Given the description of an element on the screen output the (x, y) to click on. 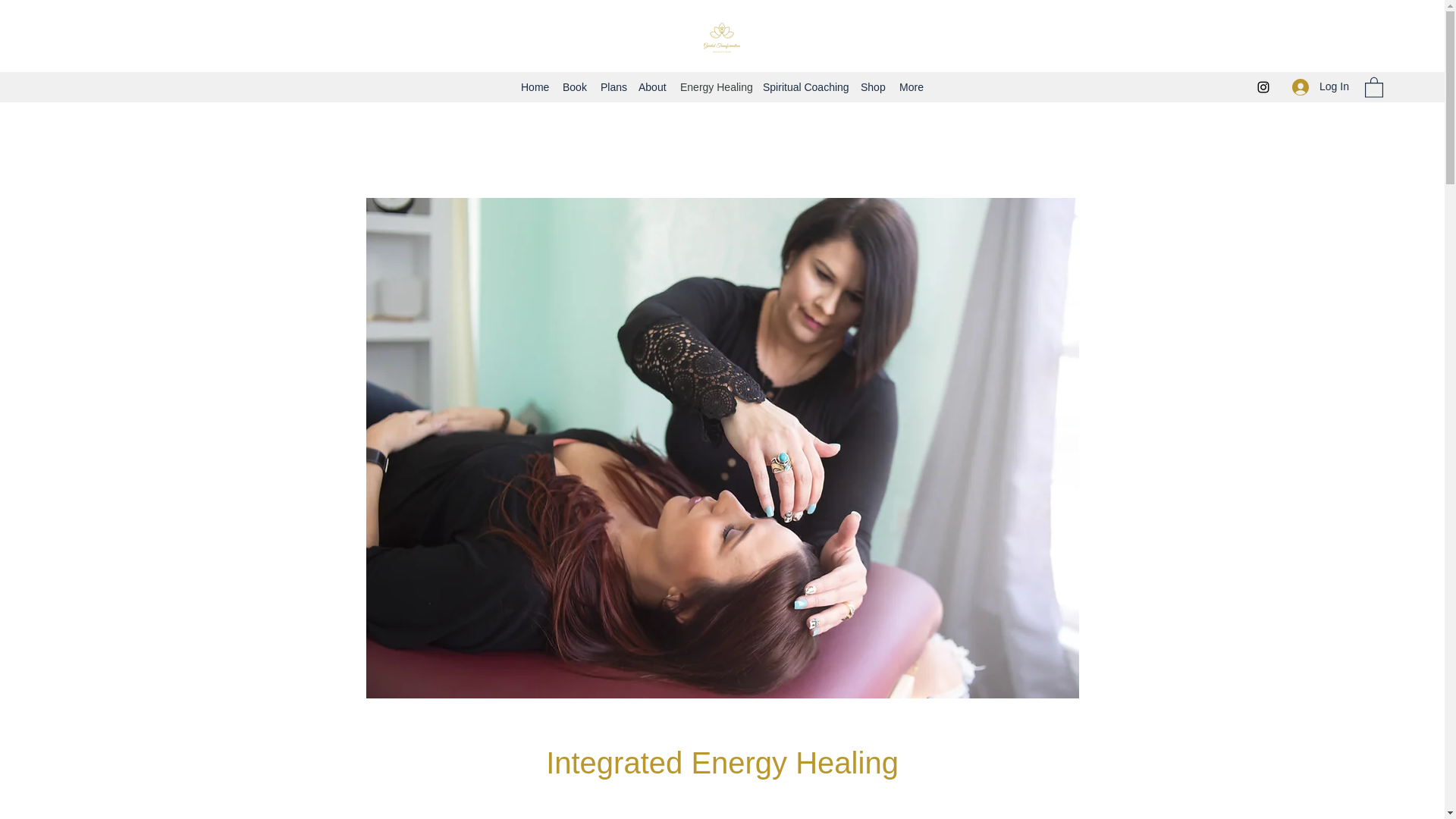
Energy Healing (713, 87)
Shop (872, 87)
Book (573, 87)
Log In (1320, 86)
Spiritual Coaching (804, 87)
About (651, 87)
Plans (611, 87)
Home (533, 87)
